Given the description of an element on the screen output the (x, y) to click on. 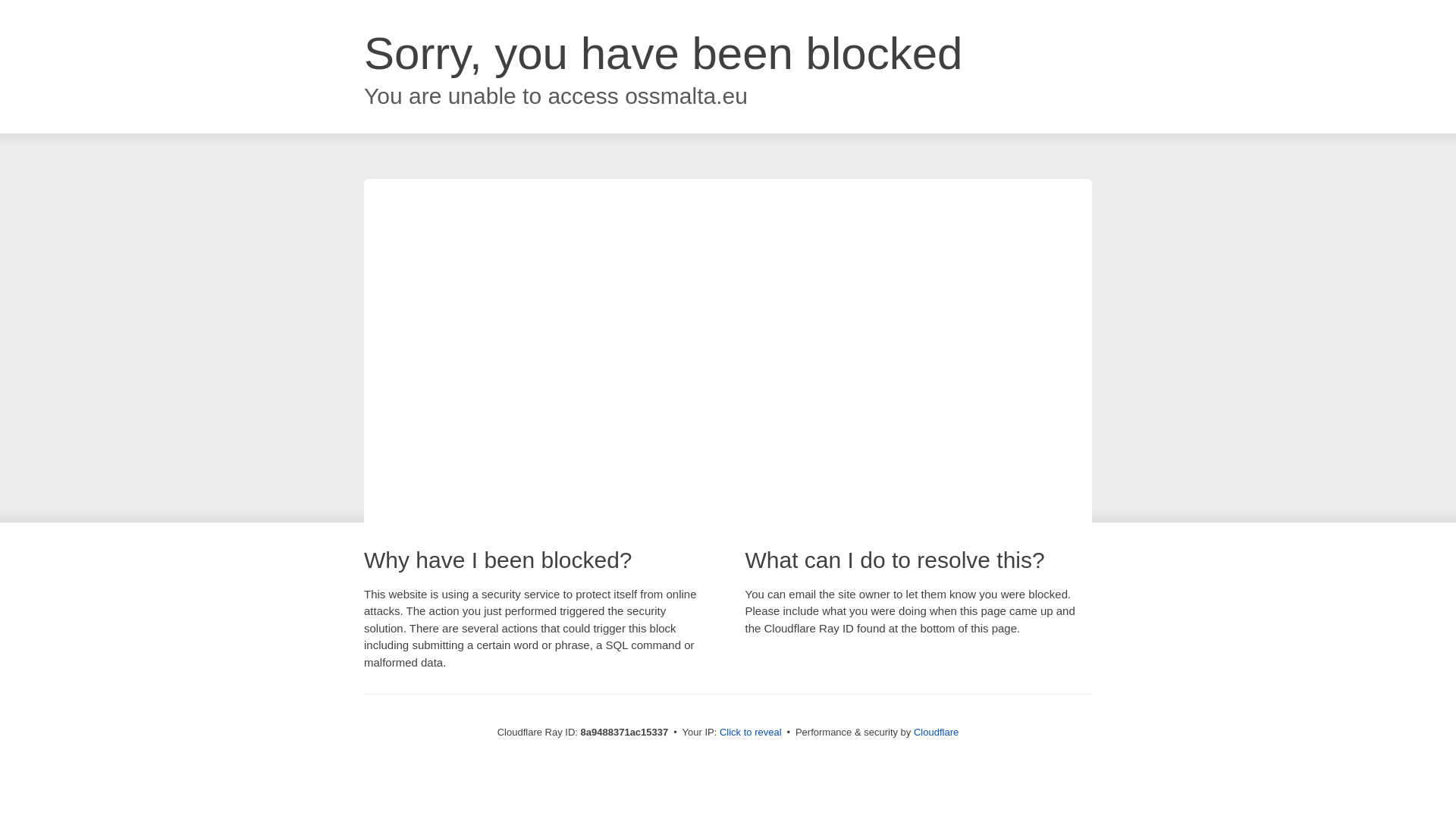
Cloudflare (936, 731)
Click to reveal (750, 732)
